Given the description of an element on the screen output the (x, y) to click on. 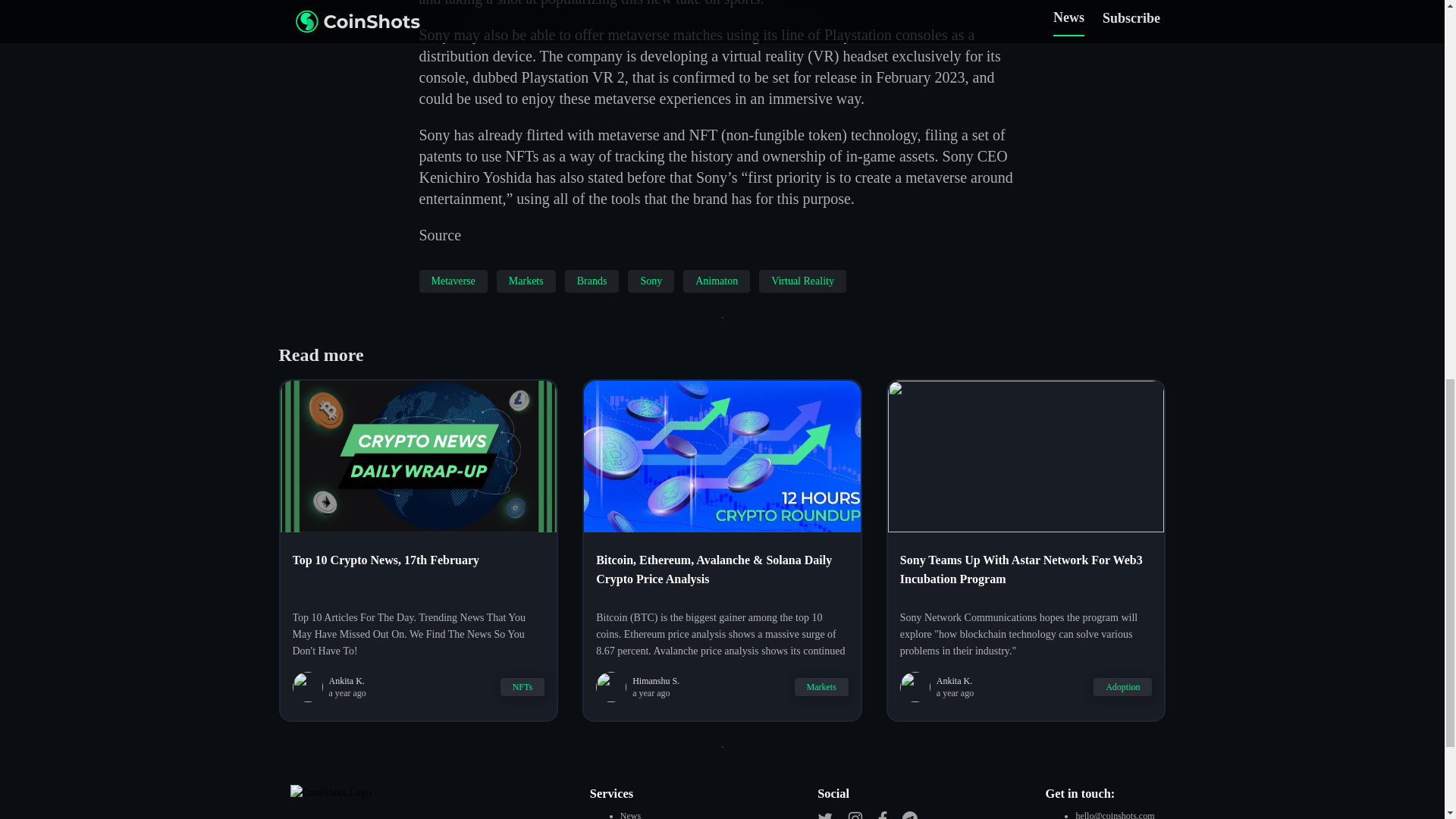
Metaverse (452, 281)
Sony (650, 281)
Source (440, 234)
Markets (526, 281)
Brands (592, 281)
Animaton (715, 281)
News (630, 814)
Virtual Reality (801, 281)
